Given the description of an element on the screen output the (x, y) to click on. 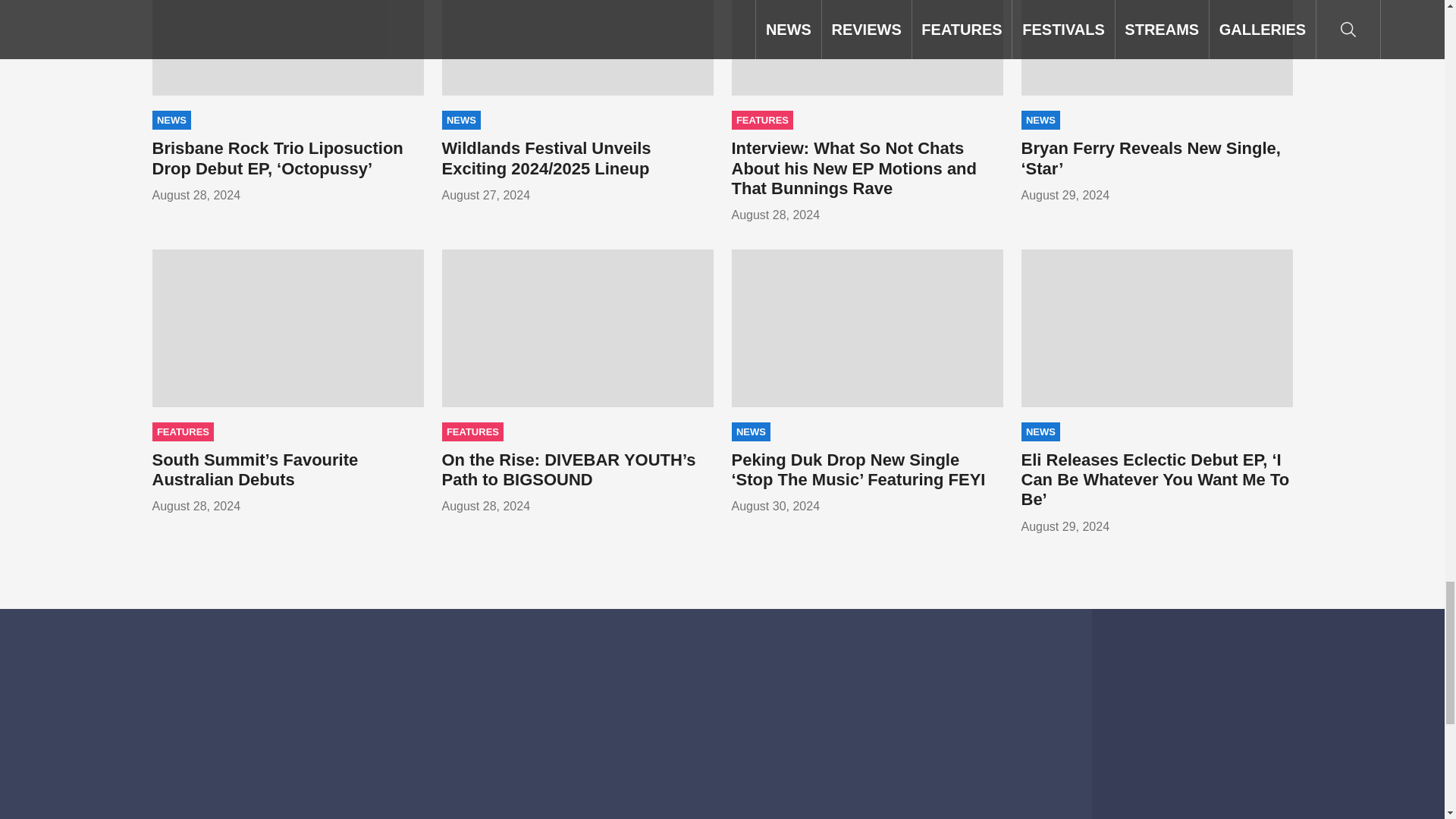
FEATURES (761, 119)
NEWS (1039, 119)
NEWS (170, 119)
NEWS (460, 119)
